Given the description of an element on the screen output the (x, y) to click on. 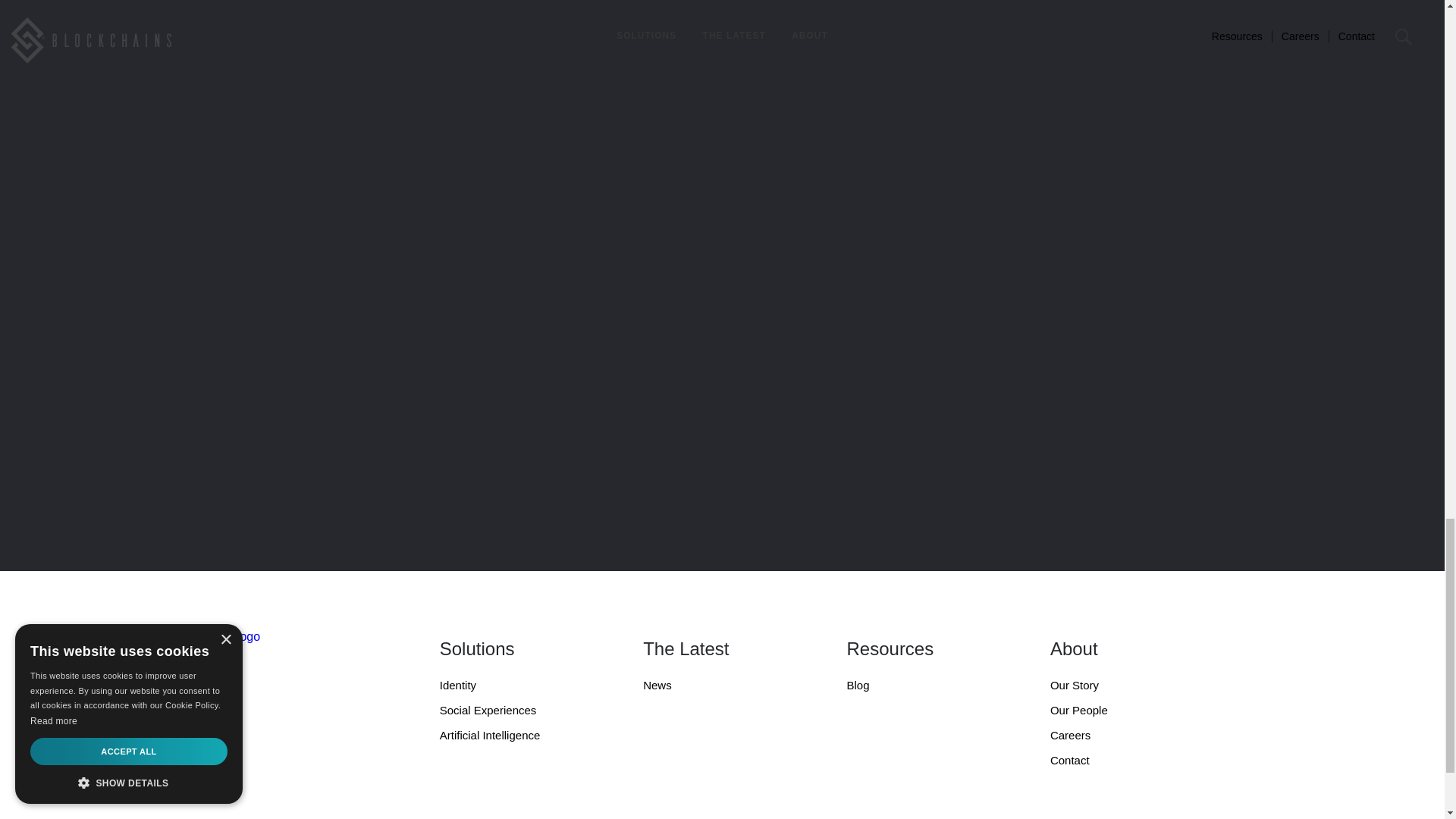
Blog (916, 690)
Social Experiences (509, 715)
Our Story (1120, 690)
Artificial Intelligence (509, 740)
Our People (1120, 715)
Contact (1120, 765)
Identity (509, 690)
Careers (1120, 740)
News (713, 690)
